Given the description of an element on the screen output the (x, y) to click on. 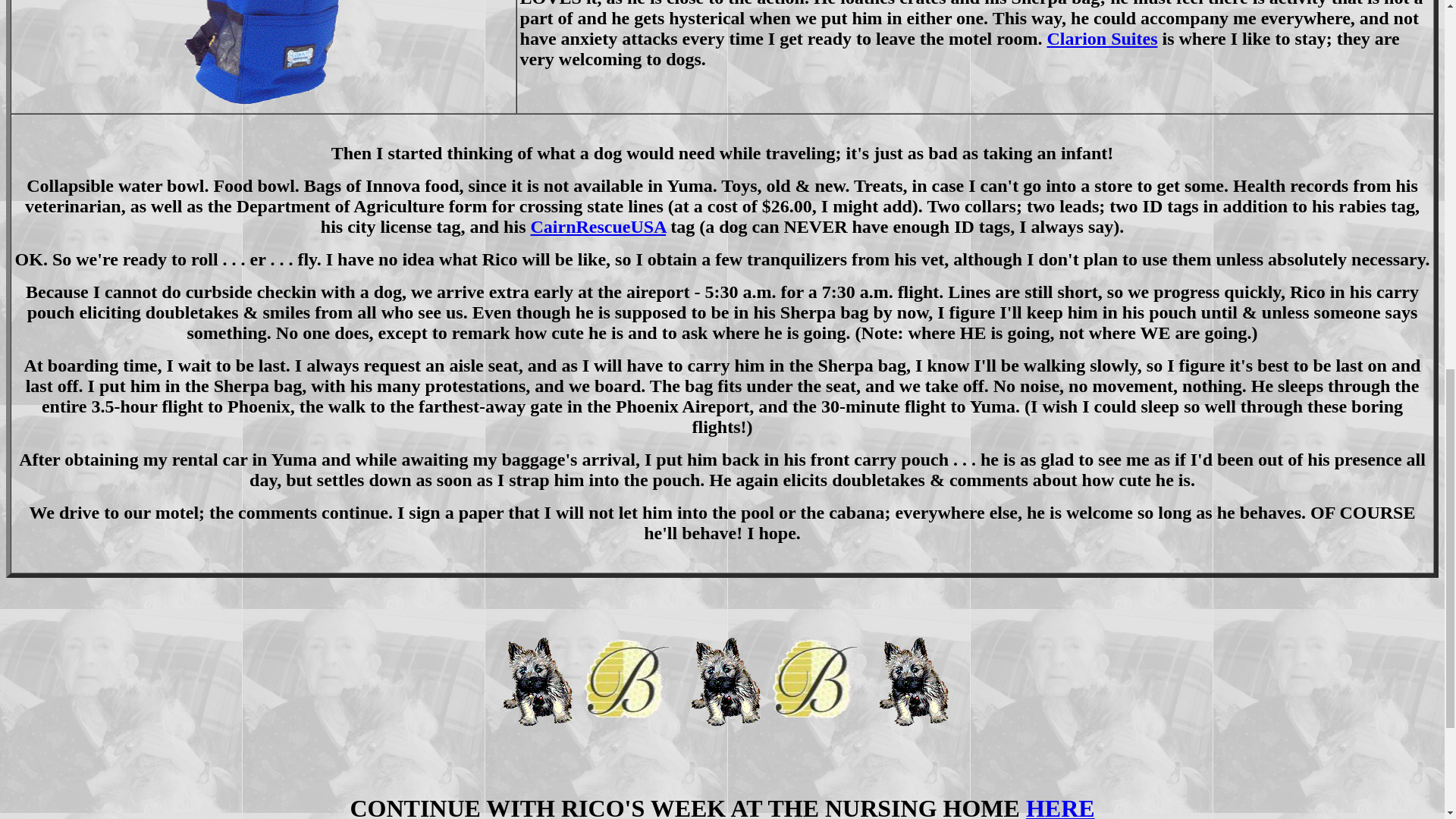
Clarion Suites (1101, 38)
HERE (1060, 806)
CairnRescueUSA (597, 226)
